Given the description of an element on the screen output the (x, y) to click on. 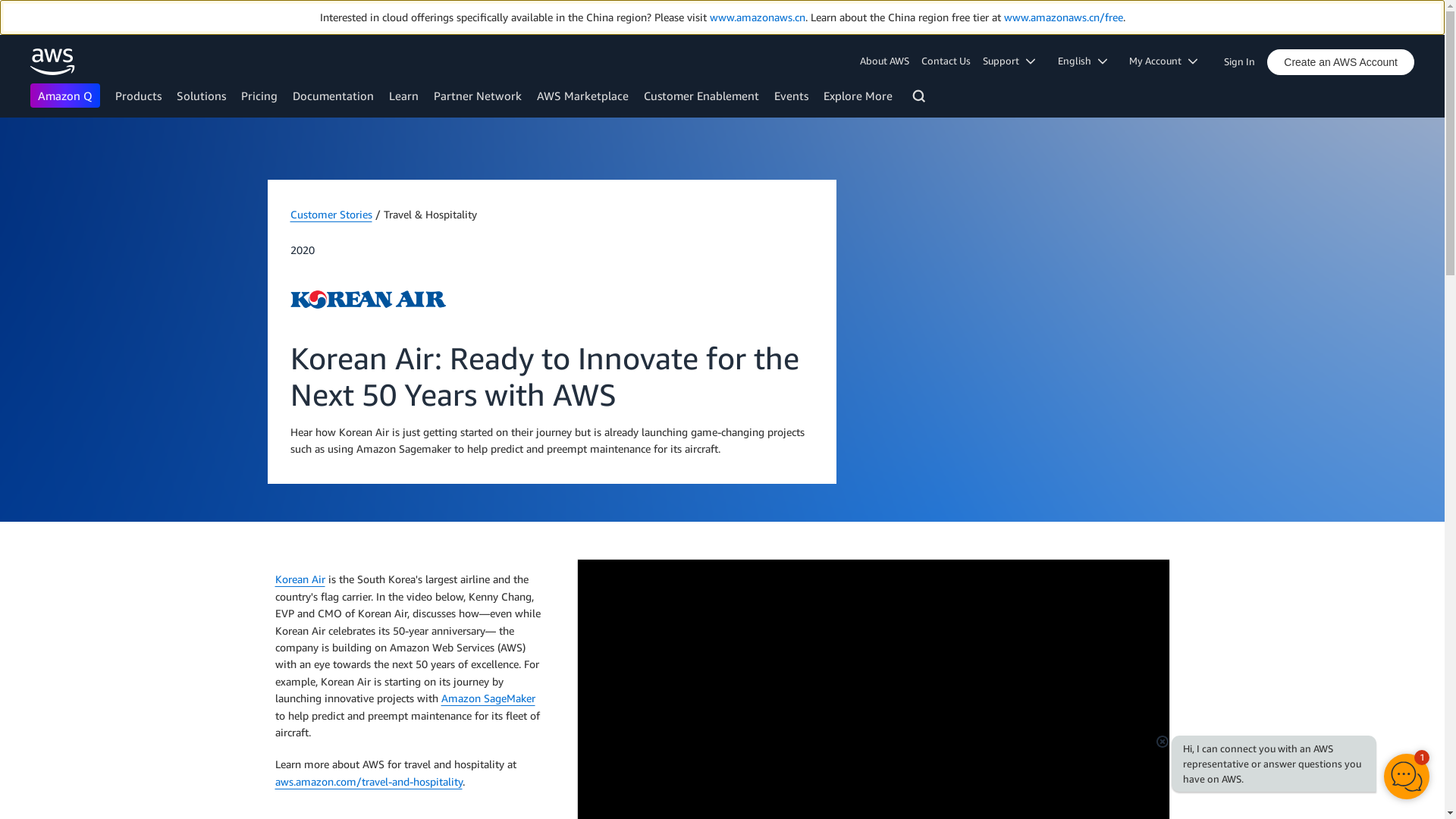
Solutions (200, 95)
Learn (403, 95)
AWS Marketplace (582, 95)
Create an AWS Account (1339, 62)
Support   (1013, 60)
My Account   (1168, 60)
www.amazonaws.cn (757, 16)
Amazon Q (65, 95)
Click here to return to Amazon Web Services homepage (52, 61)
Customer Enablement (700, 95)
About AWS (887, 60)
Contact Us (945, 60)
Products (138, 95)
English   (1087, 60)
Partner Network (477, 95)
